Given the description of an element on the screen output the (x, y) to click on. 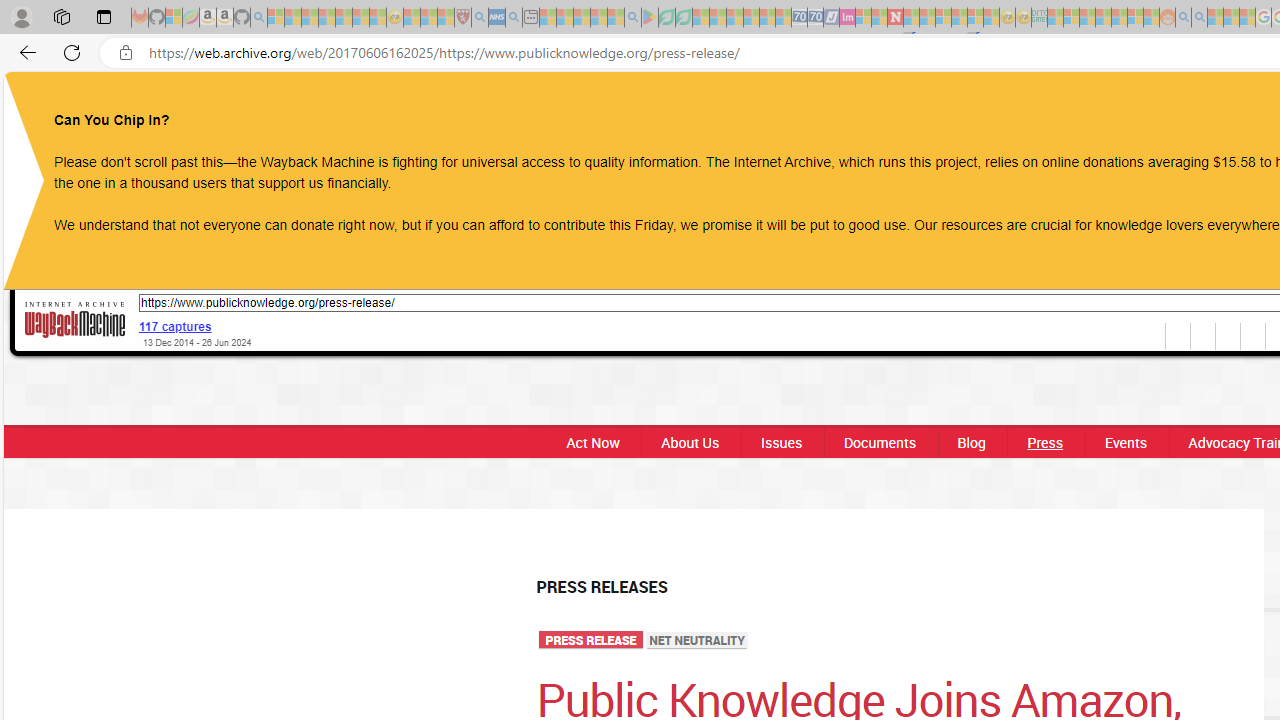
About Us (689, 442)
Open the menu (783, 109)
Act Now (587, 442)
Issues (780, 442)
Wayback Machine (75, 319)
NET NEUTRALITY (697, 641)
Documents (879, 442)
117 captures (175, 326)
